Given the description of an element on the screen output the (x, y) to click on. 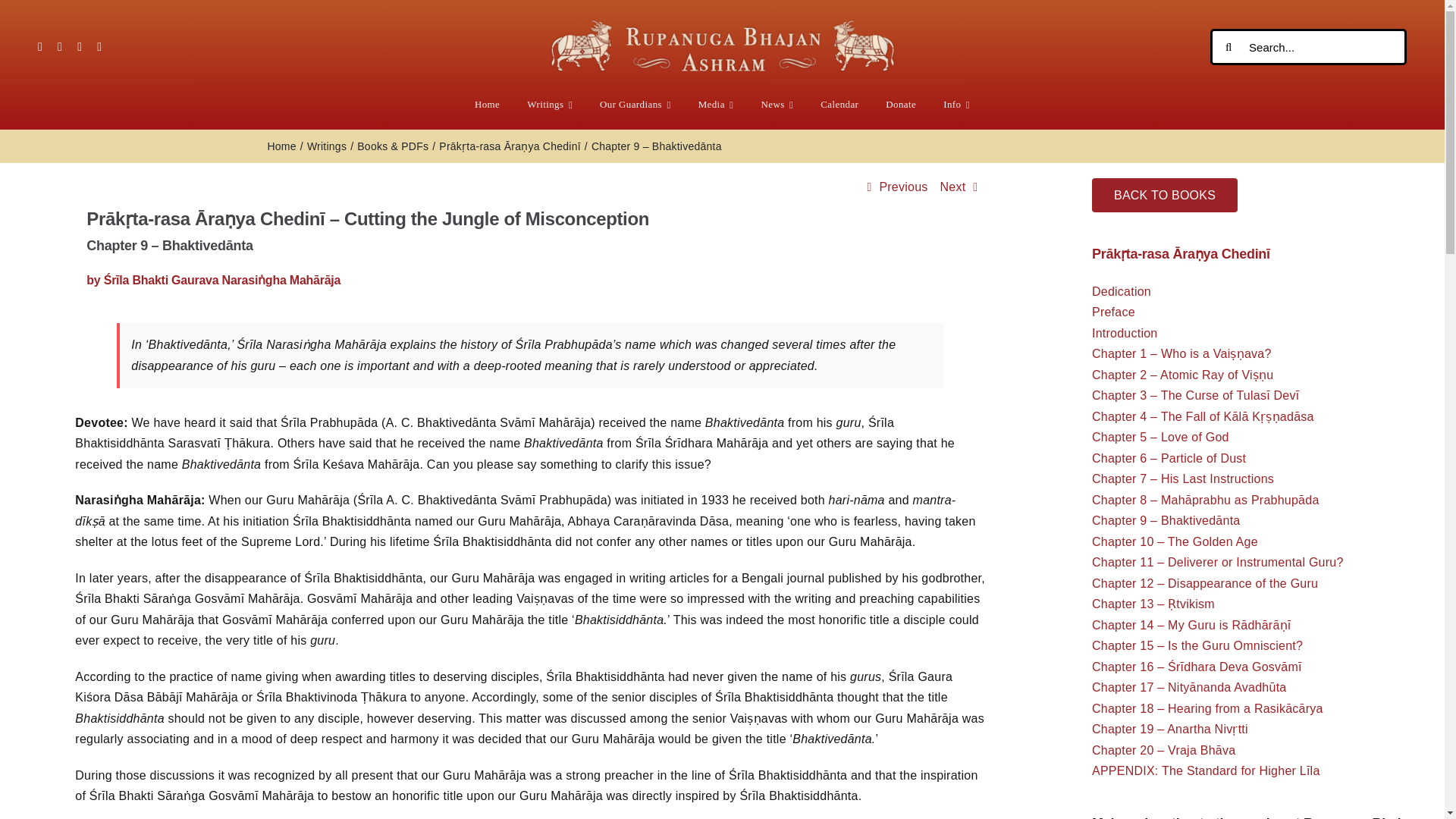
Our Guardians (635, 104)
Writings (549, 104)
Home (486, 104)
Media (715, 104)
